Given the description of an element on the screen output the (x, y) to click on. 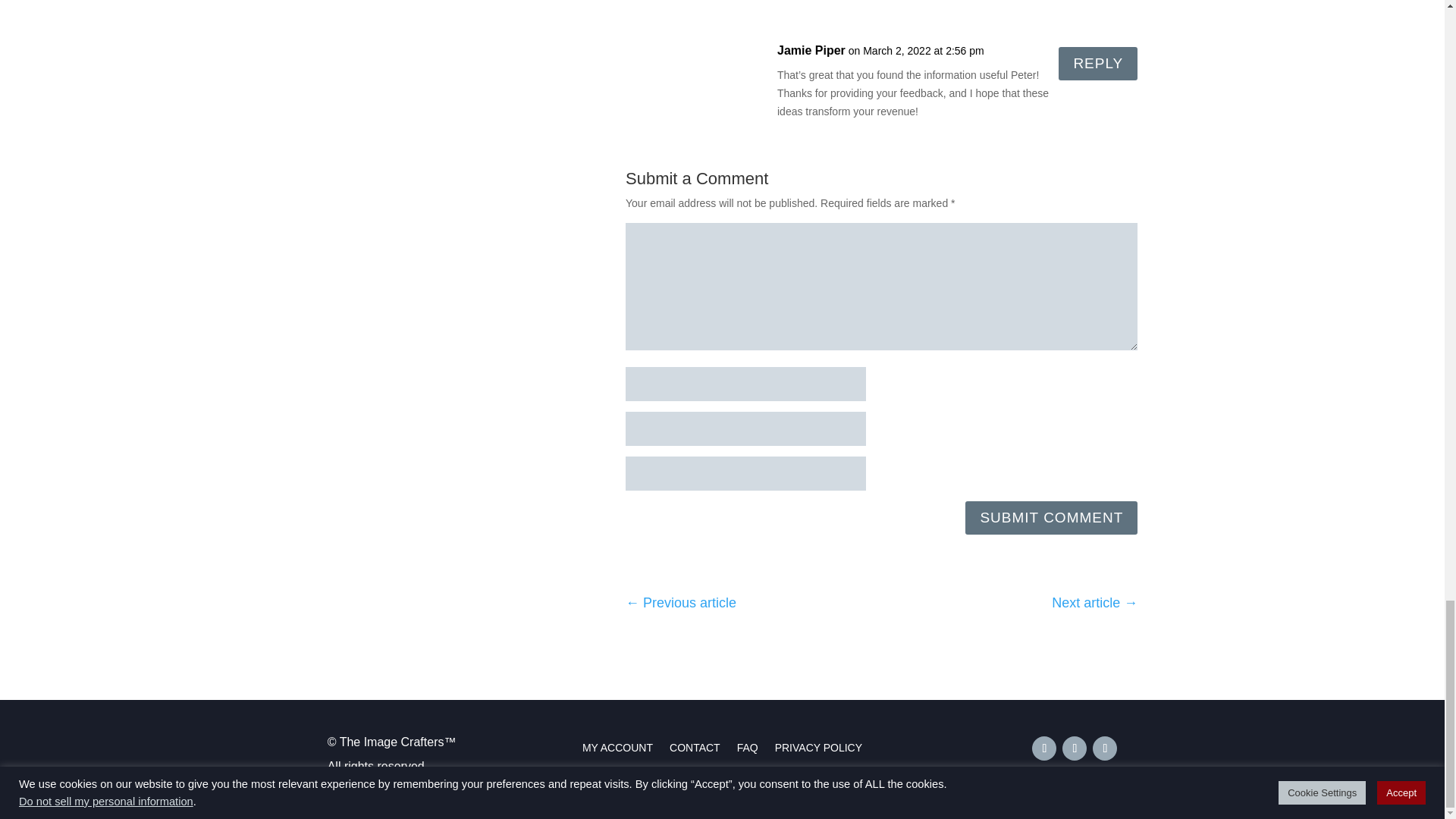
Follow on Youtube (1104, 748)
Follow on Facebook (1044, 748)
Follow on Instagram (1074, 748)
